Given the description of an element on the screen output the (x, y) to click on. 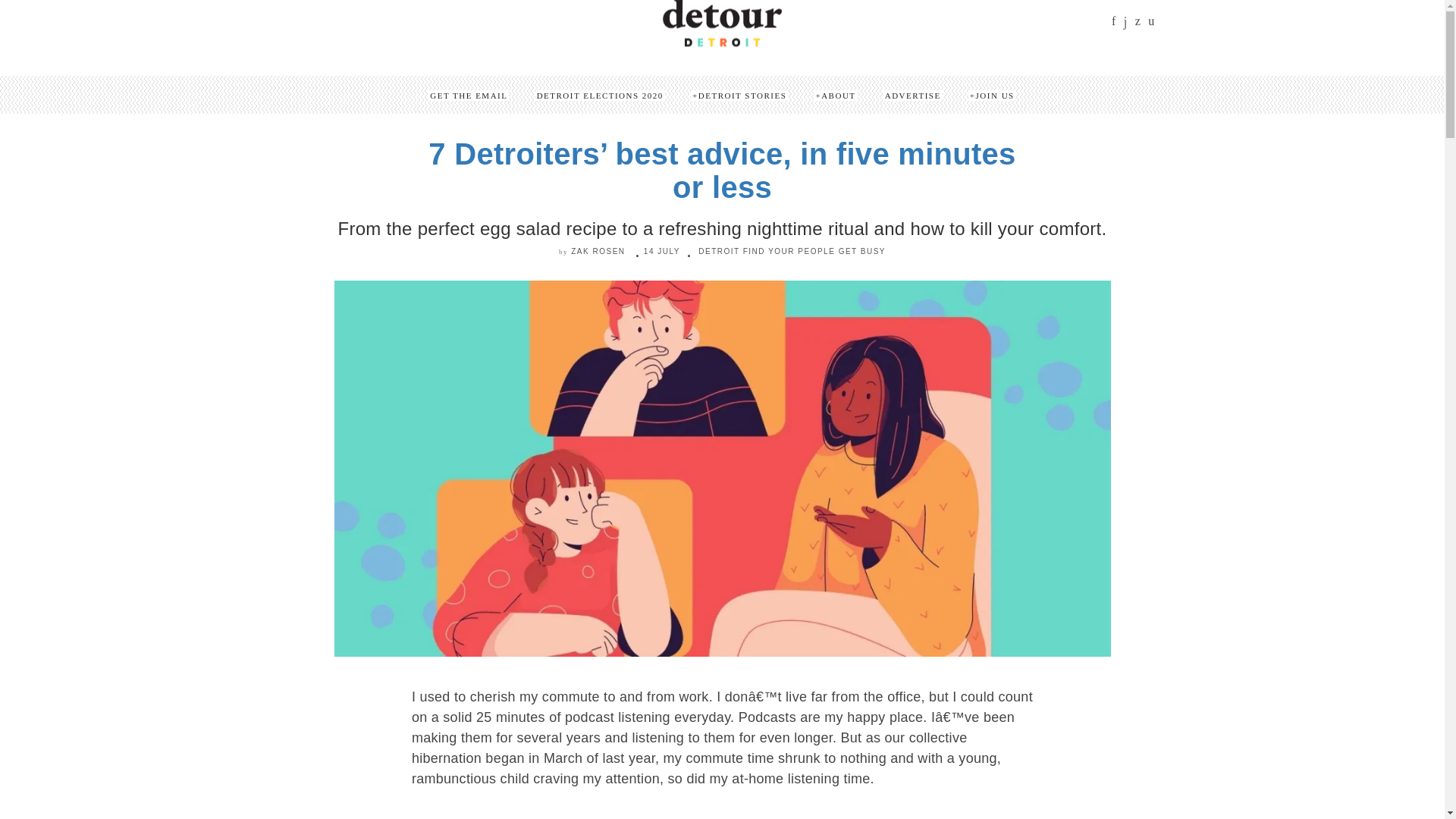
ZAK ROSEN (597, 251)
DETROIT ELECTIONS 2020 (600, 95)
ADVERTISE (912, 95)
GET THE EMAIL (468, 95)
July 14, 2021 11:32 (661, 251)
DETROIT STORIES (738, 95)
ABOUT (835, 95)
DETROIT (718, 251)
14 JULY (661, 251)
JOIN US (992, 95)
